Given the description of an element on the screen output the (x, y) to click on. 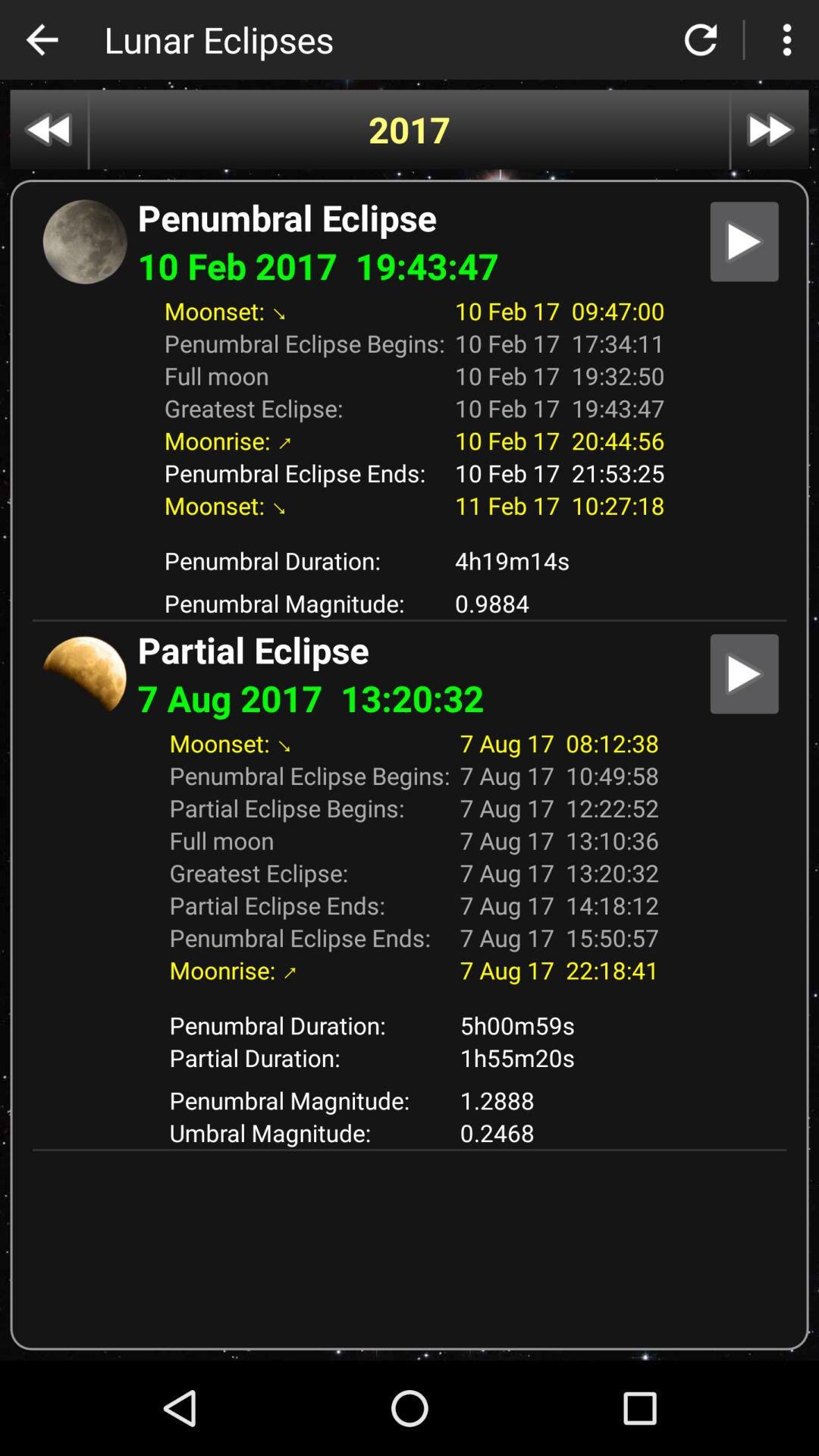
select the icon next to 1.2888 icon (309, 1132)
